Given the description of an element on the screen output the (x, y) to click on. 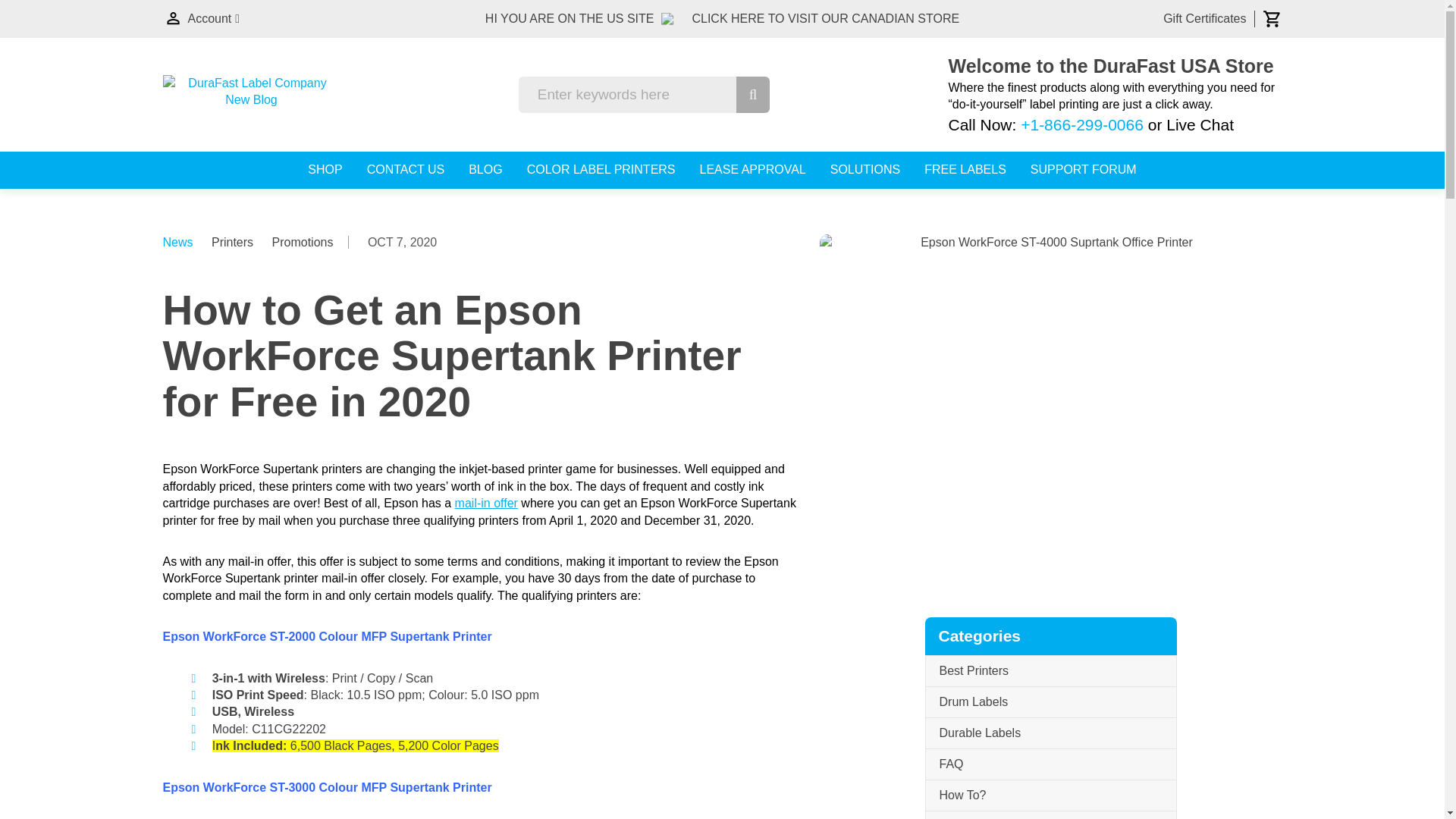
Printers (232, 241)
Promotions (302, 241)
CLICK HERE TO VISIT OUR CANADIAN STORE (825, 18)
mail-in offer (486, 502)
Drum Labels (1049, 702)
News (176, 242)
COLOR LABEL PRINTERS (601, 169)
FREE LABELS (965, 169)
Gift Certificates (1204, 18)
FAQ (1049, 764)
SOLUTIONS (864, 169)
Best Printers (1049, 671)
SUPPORT FORUM (1083, 169)
LEASE APPROVAL (753, 169)
Industrial Labels (1049, 815)
